Given the description of an element on the screen output the (x, y) to click on. 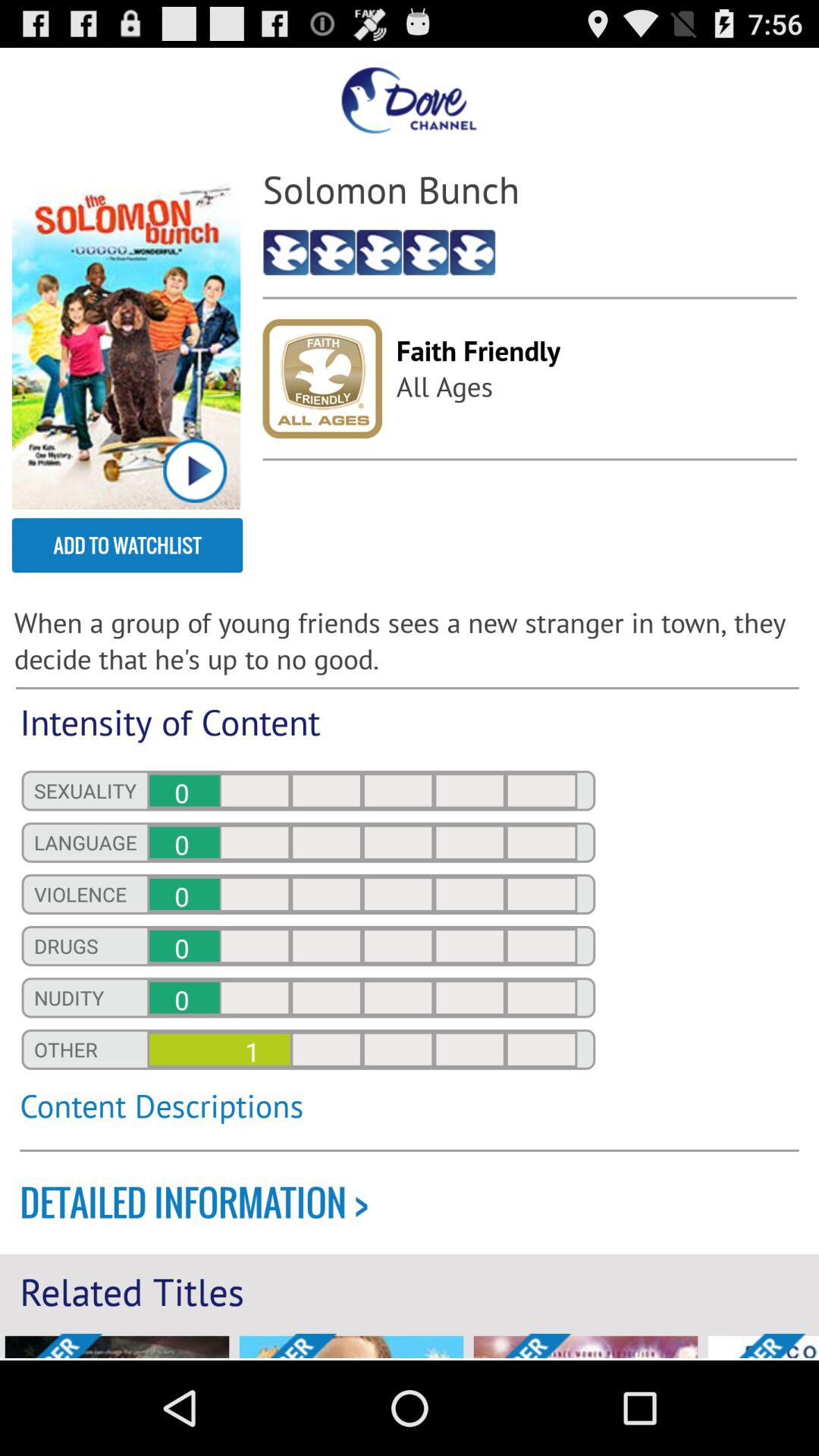
tap the detailed information > (419, 1202)
